Given the description of an element on the screen output the (x, y) to click on. 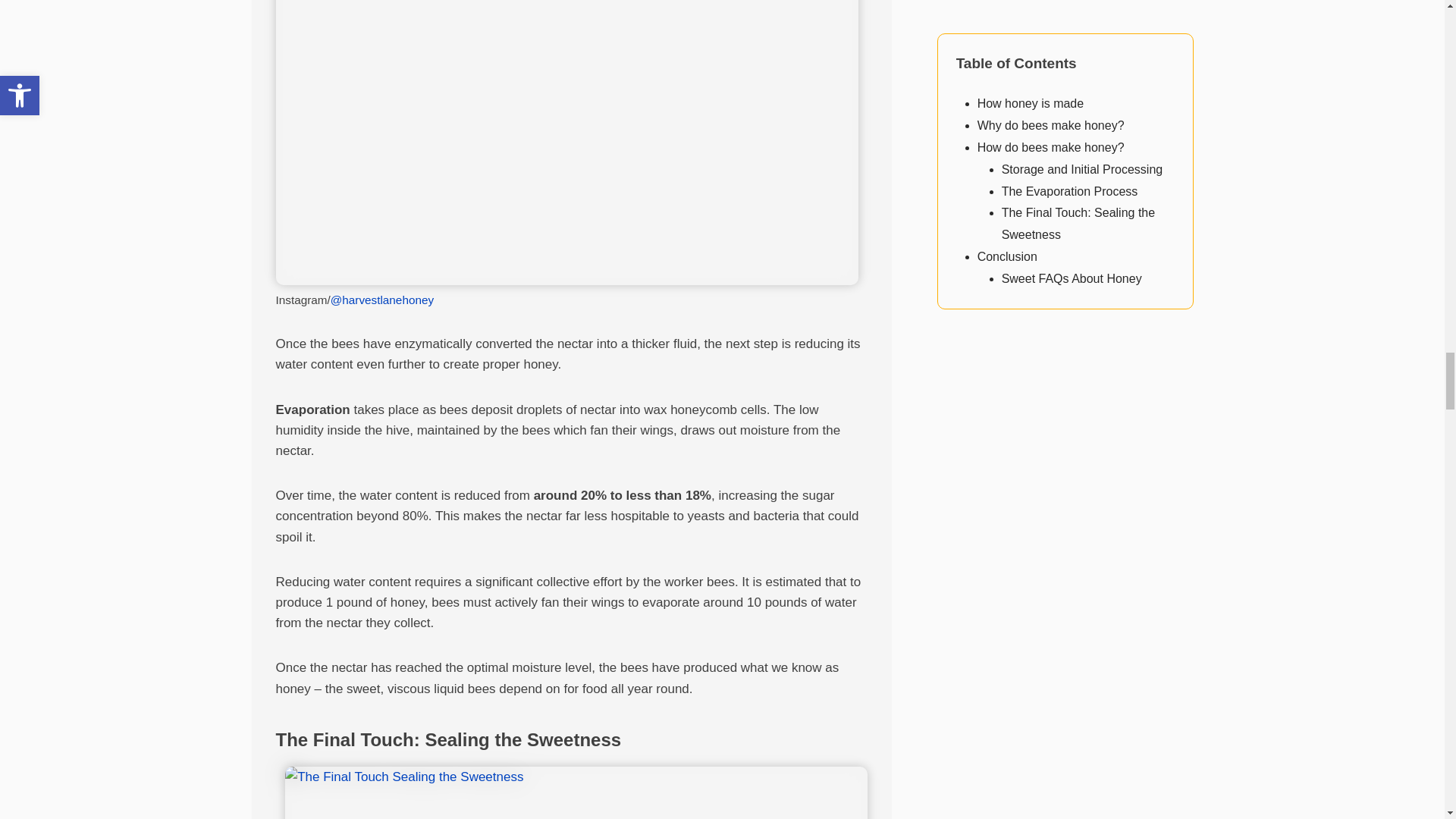
The Final Touch Sealing the Sweetness (576, 792)
